Given the description of an element on the screen output the (x, y) to click on. 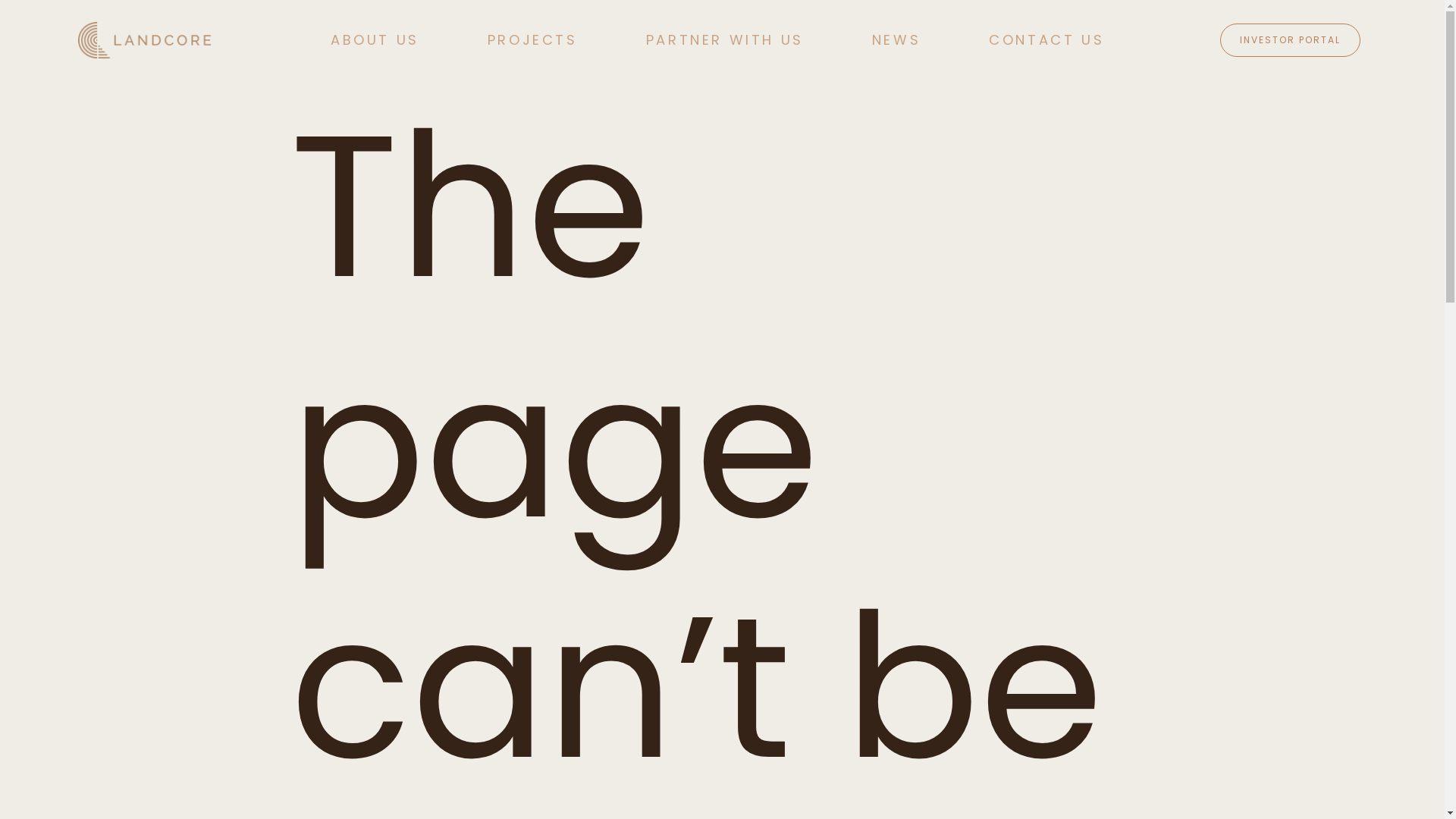
PARTNER WITH US Element type: text (724, 39)
CONTACT US Element type: text (1046, 39)
ABOUT US Element type: text (374, 39)
PROJECTS Element type: text (532, 39)
NEWS Element type: text (895, 39)
INVESTOR PORTAL Element type: text (1290, 39)
